Given the description of an element on the screen output the (x, y) to click on. 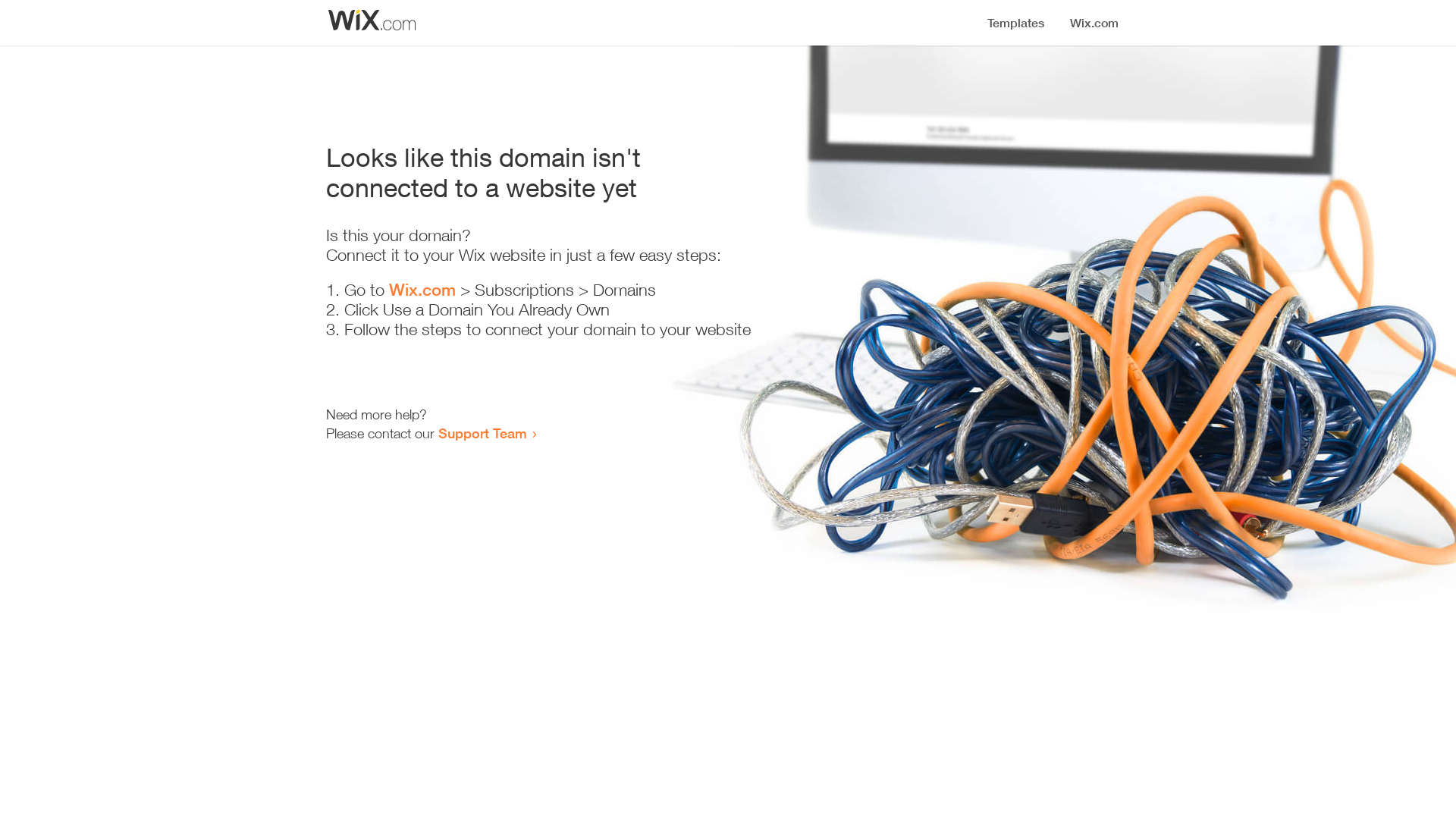
Wix.com Element type: text (422, 289)
Support Team Element type: text (482, 432)
